Given the description of an element on the screen output the (x, y) to click on. 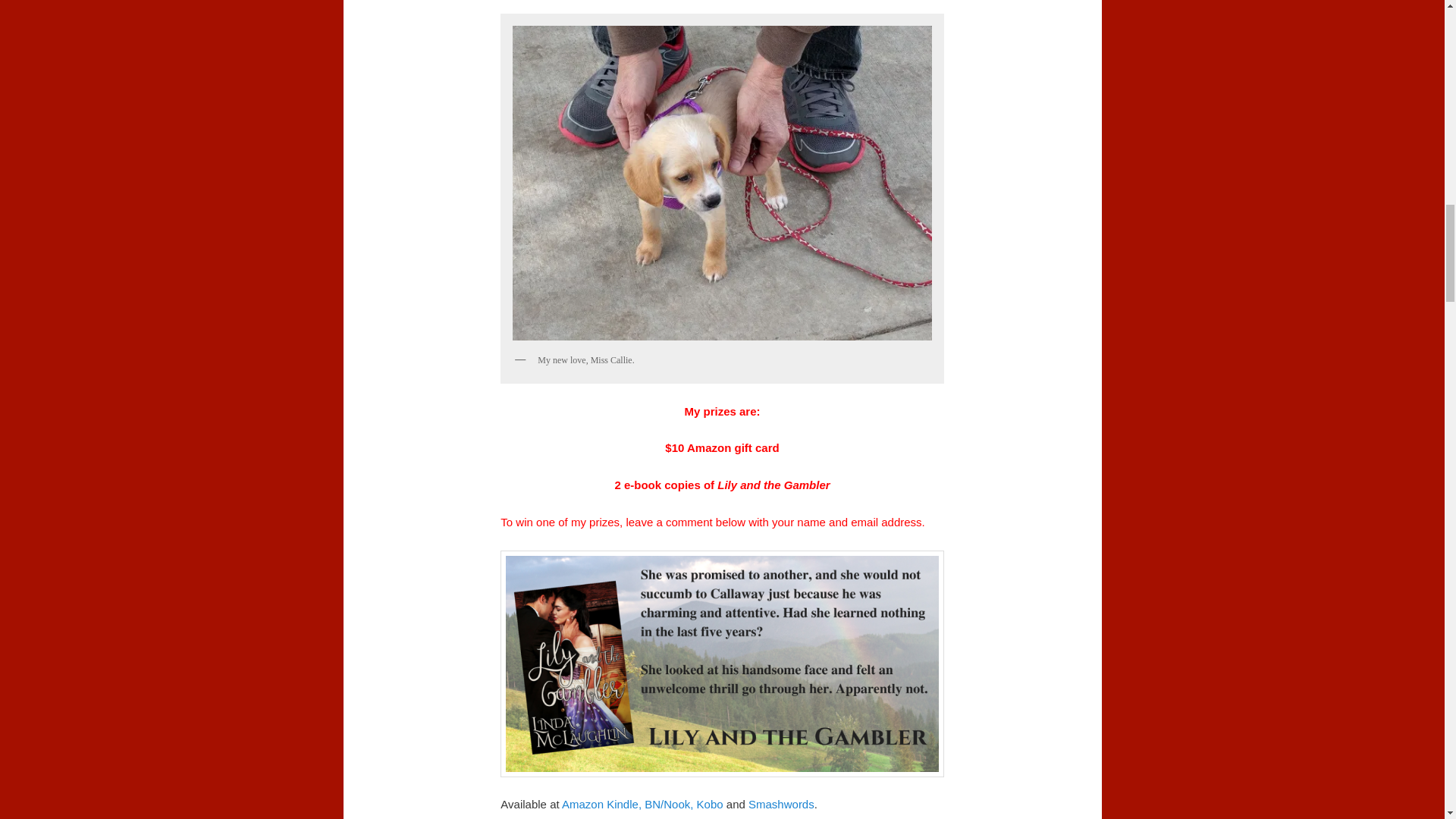
Kobo (710, 803)
Amazon Kindle, (602, 803)
Smashwords (780, 803)
